Given the description of an element on the screen output the (x, y) to click on. 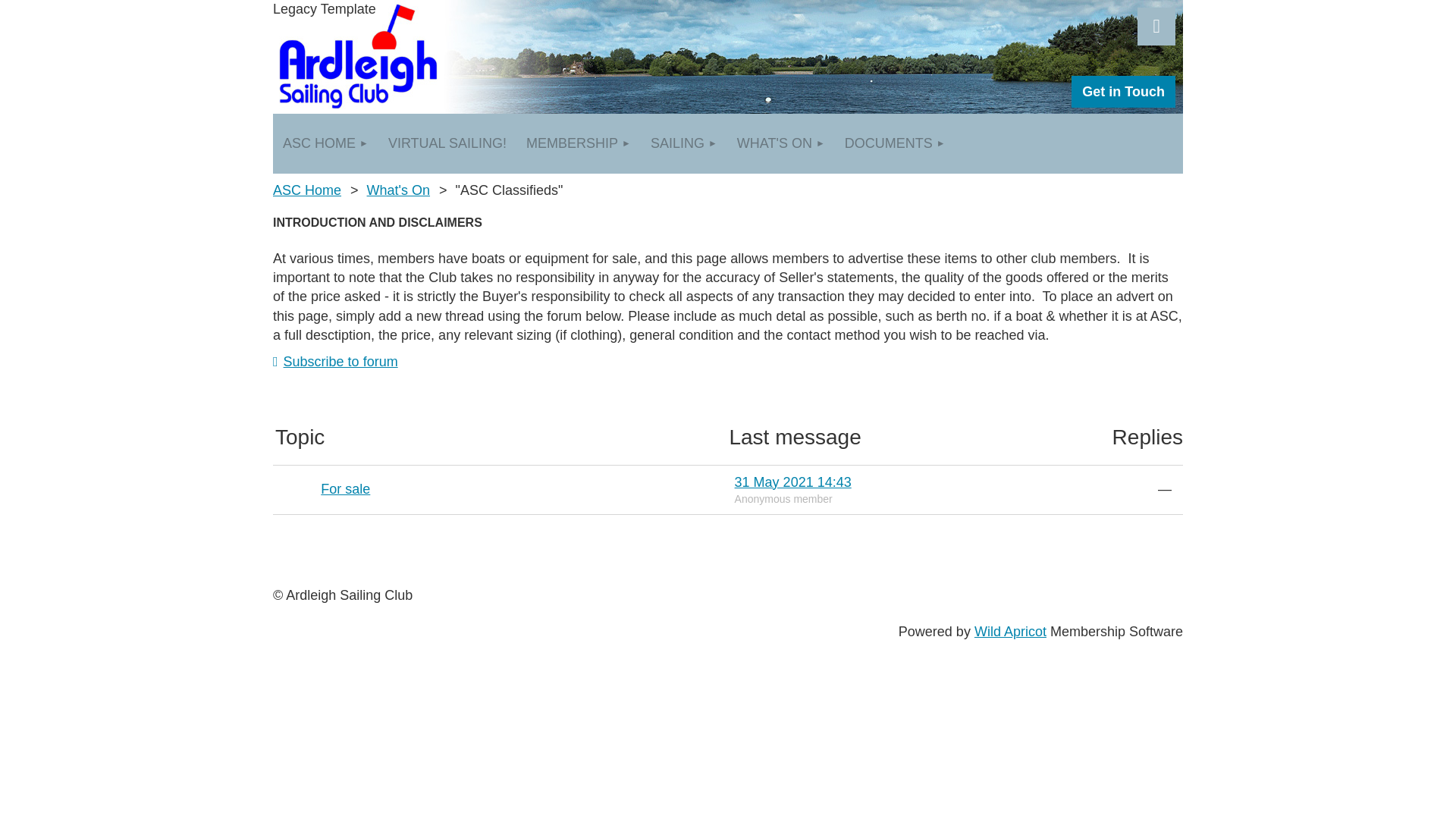
MEMBERSHIP (578, 143)
Sailing (683, 143)
Virtual Sailing! (447, 143)
Log in (1155, 26)
WHAT'S ON (780, 143)
ASC Home (325, 143)
Get in Touch (1122, 91)
Membership (578, 143)
ASC HOME (325, 143)
SAILING (683, 143)
VIRTUAL SAILING! (447, 143)
